Given the description of an element on the screen output the (x, y) to click on. 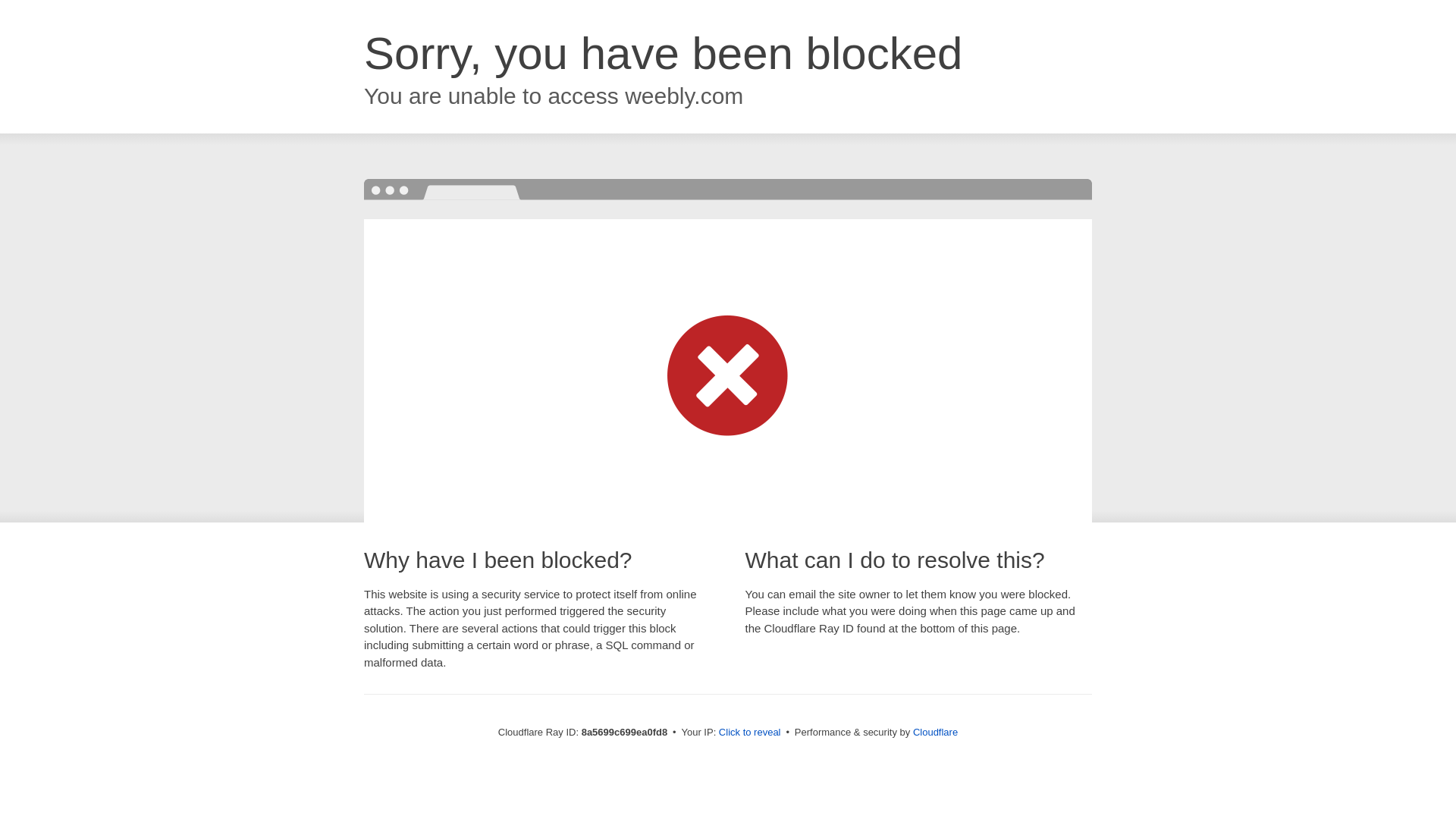
Cloudflare (935, 731)
Click to reveal (749, 732)
